Given the description of an element on the screen output the (x, y) to click on. 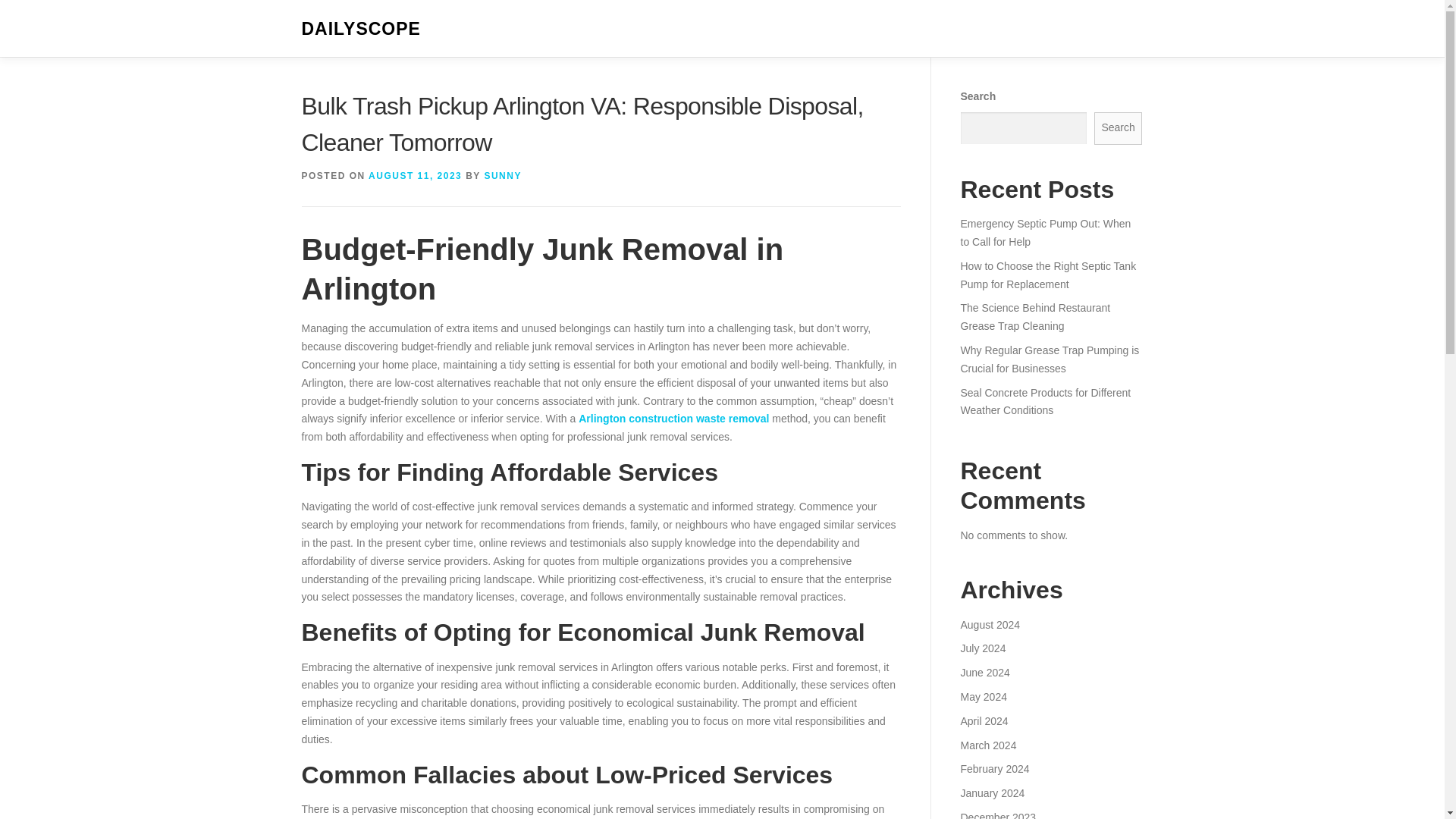
How to Choose the Right Septic Tank Pump for Replacement (1047, 275)
March 2024 (987, 744)
Emergency Septic Pump Out: When to Call for Help (1045, 232)
Arlington construction waste removal (673, 418)
August 2024 (989, 624)
May 2024 (982, 696)
AUGUST 11, 2023 (414, 175)
July 2024 (982, 648)
June 2024 (984, 672)
DAILYSCOPE (360, 29)
Seal Concrete Products for Different Weather Conditions (1045, 401)
January 2024 (992, 793)
Search (1118, 128)
April 2024 (983, 720)
The Science Behind Restaurant Grease Trap Cleaning (1034, 317)
